Given the description of an element on the screen output the (x, y) to click on. 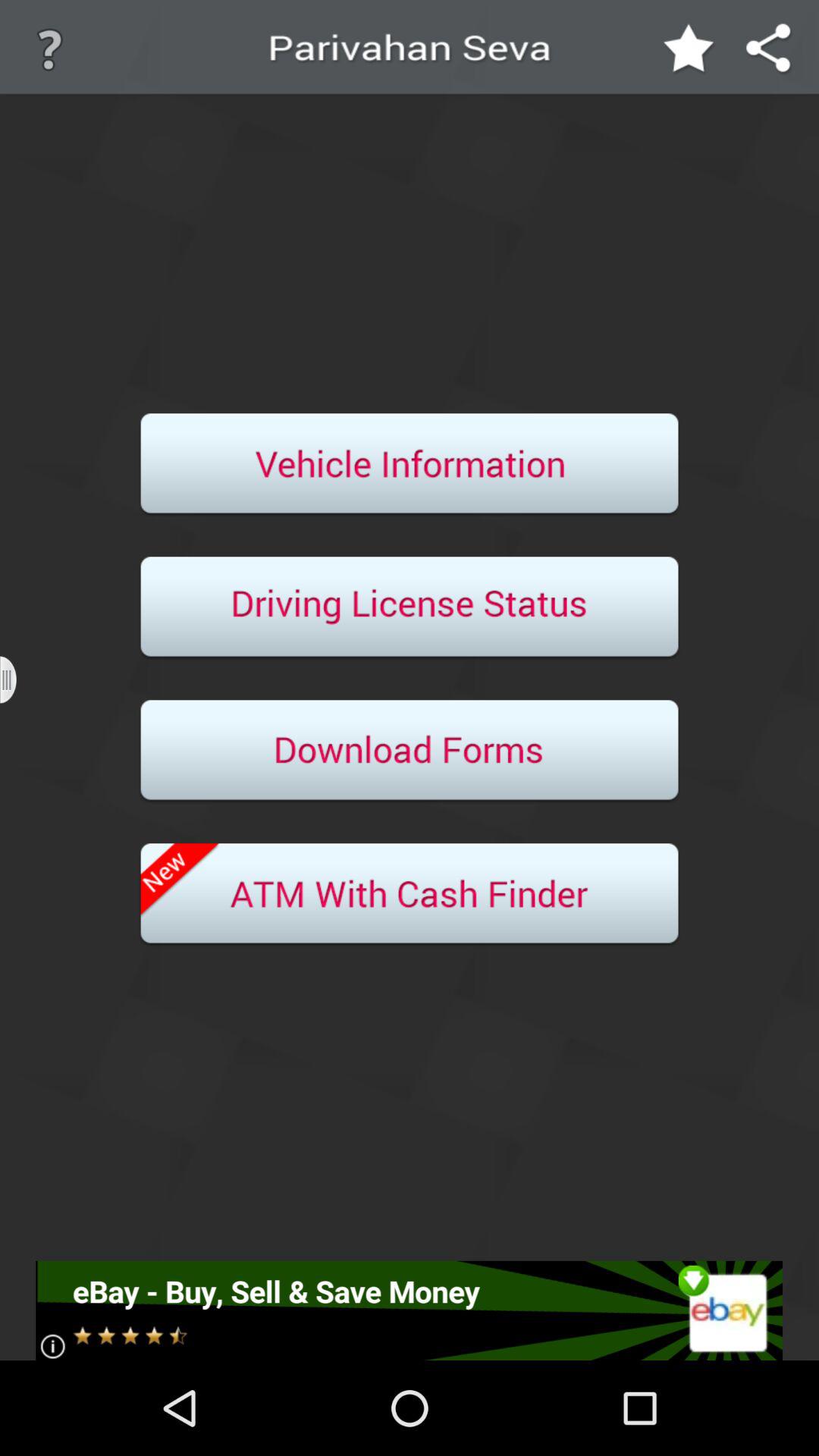
rto opption (409, 464)
